Given the description of an element on the screen output the (x, y) to click on. 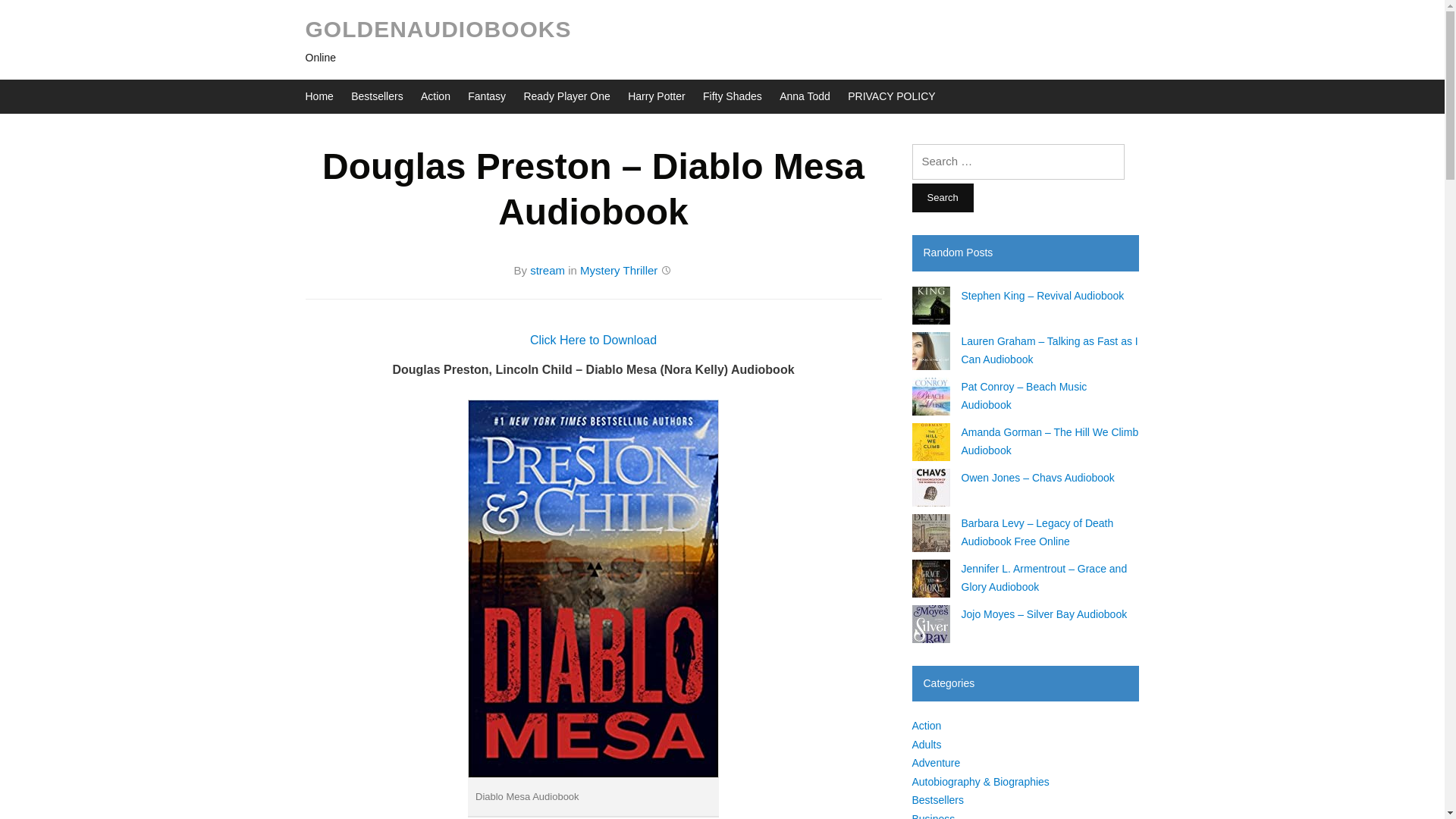
Bestsellers (376, 96)
PRIVACY POLICY (890, 96)
Posts by stream (546, 269)
Harry Potter (655, 96)
GOLDENAUDIOBOOKS (437, 28)
Mystery (599, 269)
Search (941, 197)
Ready Player One (566, 96)
stream (546, 269)
Fifty Shades (732, 96)
Anna Todd (803, 96)
Search (941, 197)
Fantasy (486, 96)
